Given the description of an element on the screen output the (x, y) to click on. 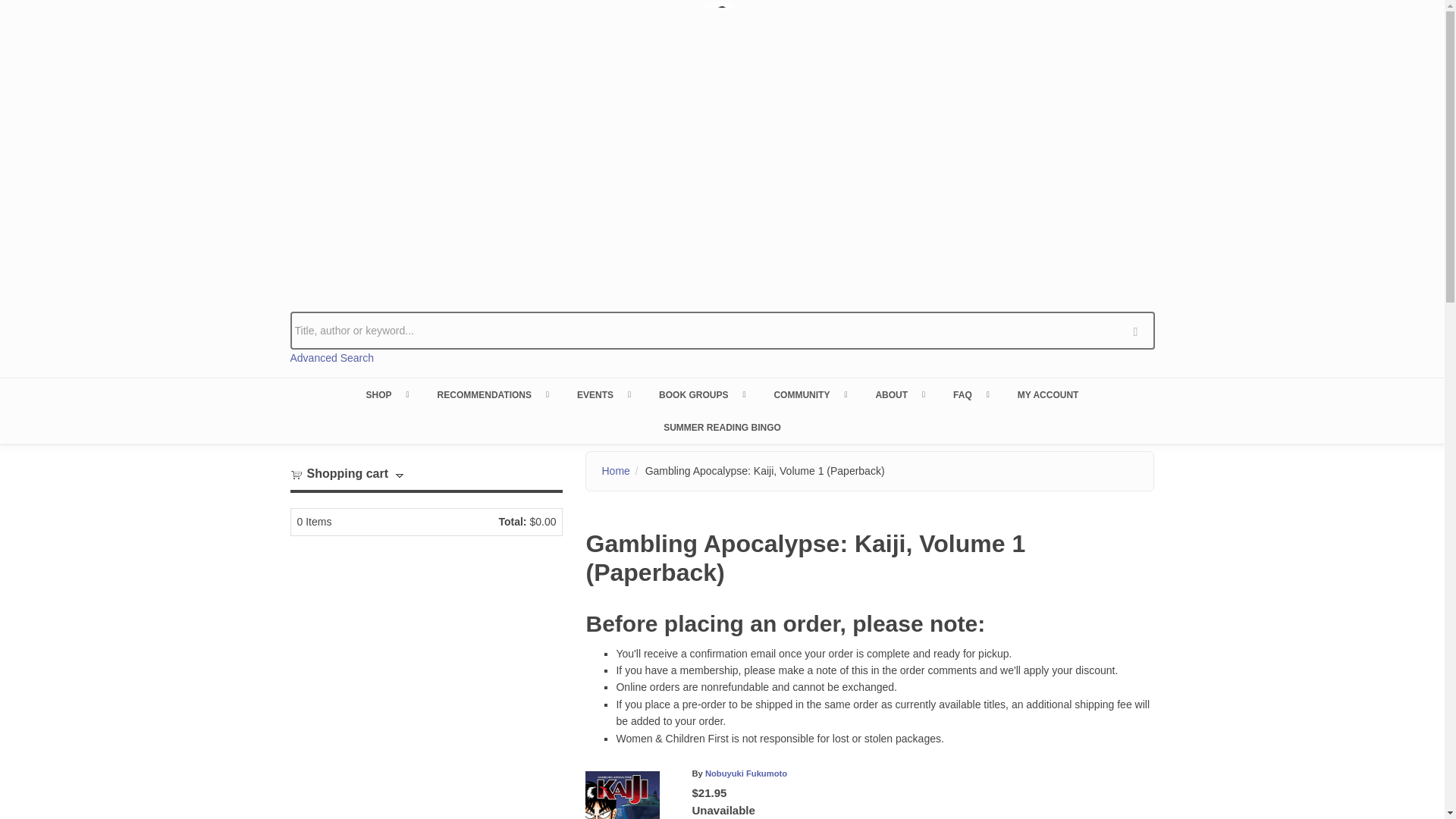
Home (722, 152)
View your shopping cart. (295, 473)
Advanced Search (331, 357)
Title, author or keyword... (721, 330)
SHOP (386, 394)
Instructions for summer bingo! (721, 427)
About the Owners and the History of Women and Children First (898, 394)
EVENTS (602, 394)
RECOMMENDATIONS (492, 394)
